Given the description of an element on the screen output the (x, y) to click on. 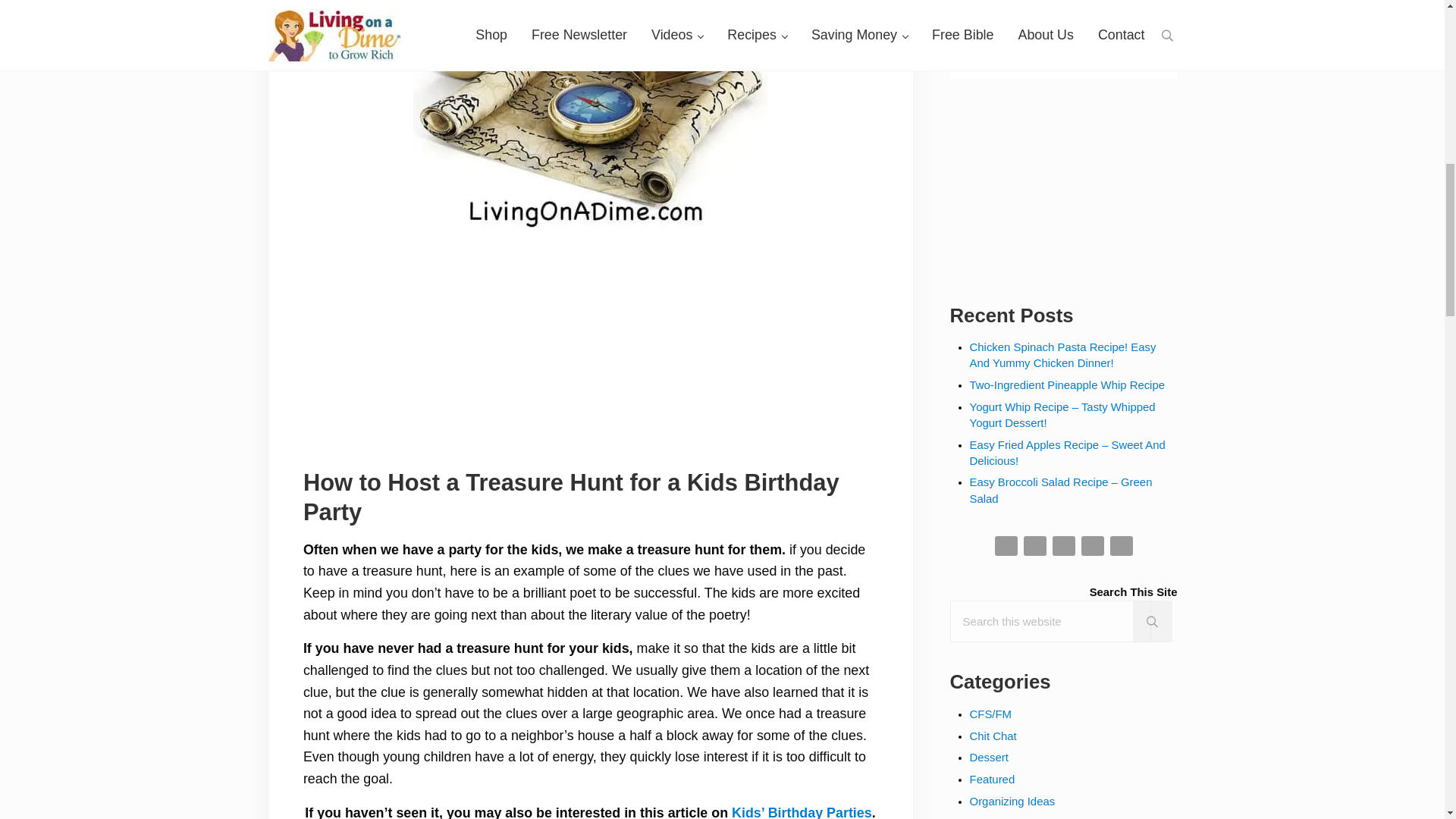
Submit (1063, 41)
